Given the description of an element on the screen output the (x, y) to click on. 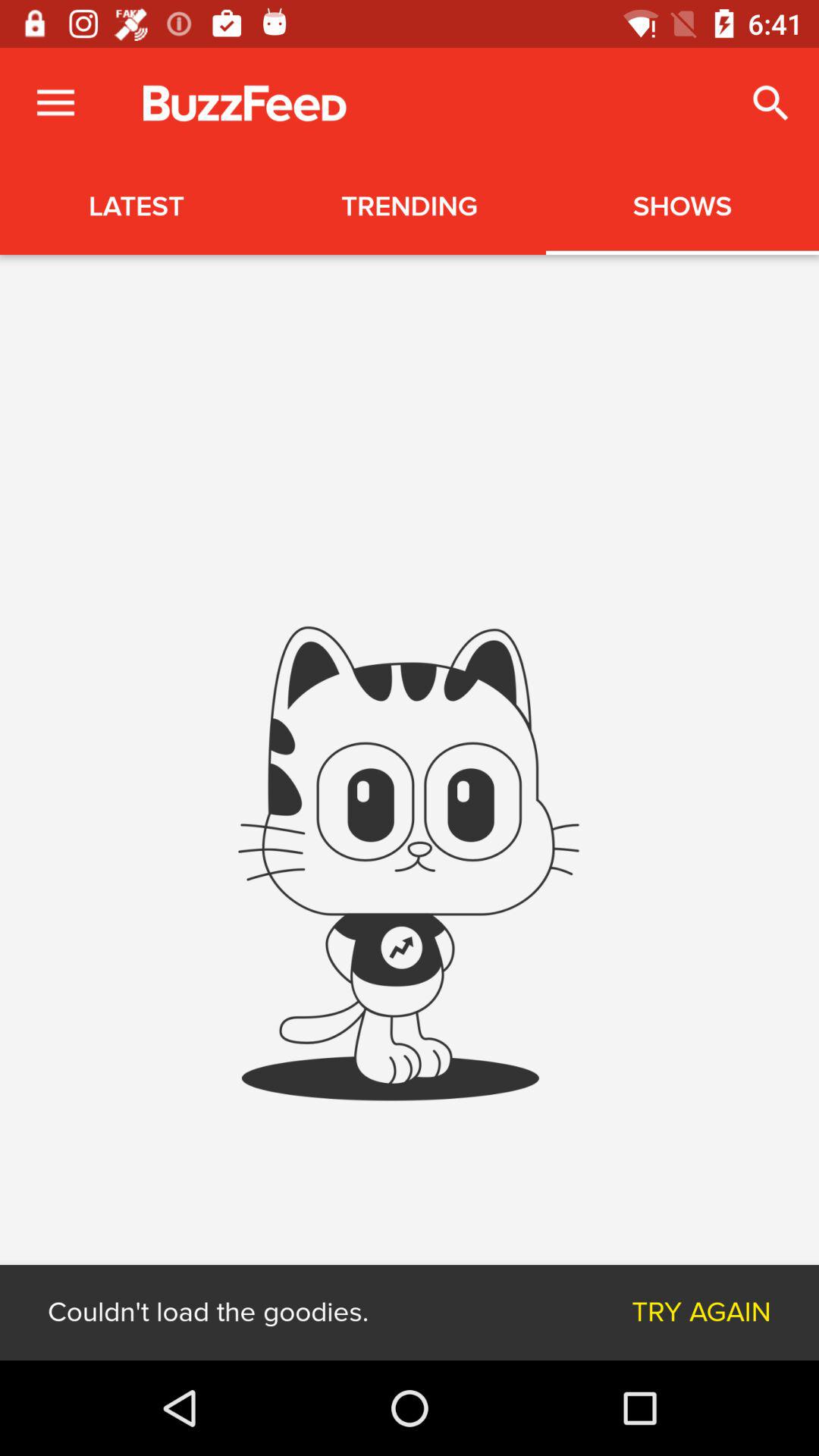
jump to the try again item (701, 1312)
